Given the description of an element on the screen output the (x, y) to click on. 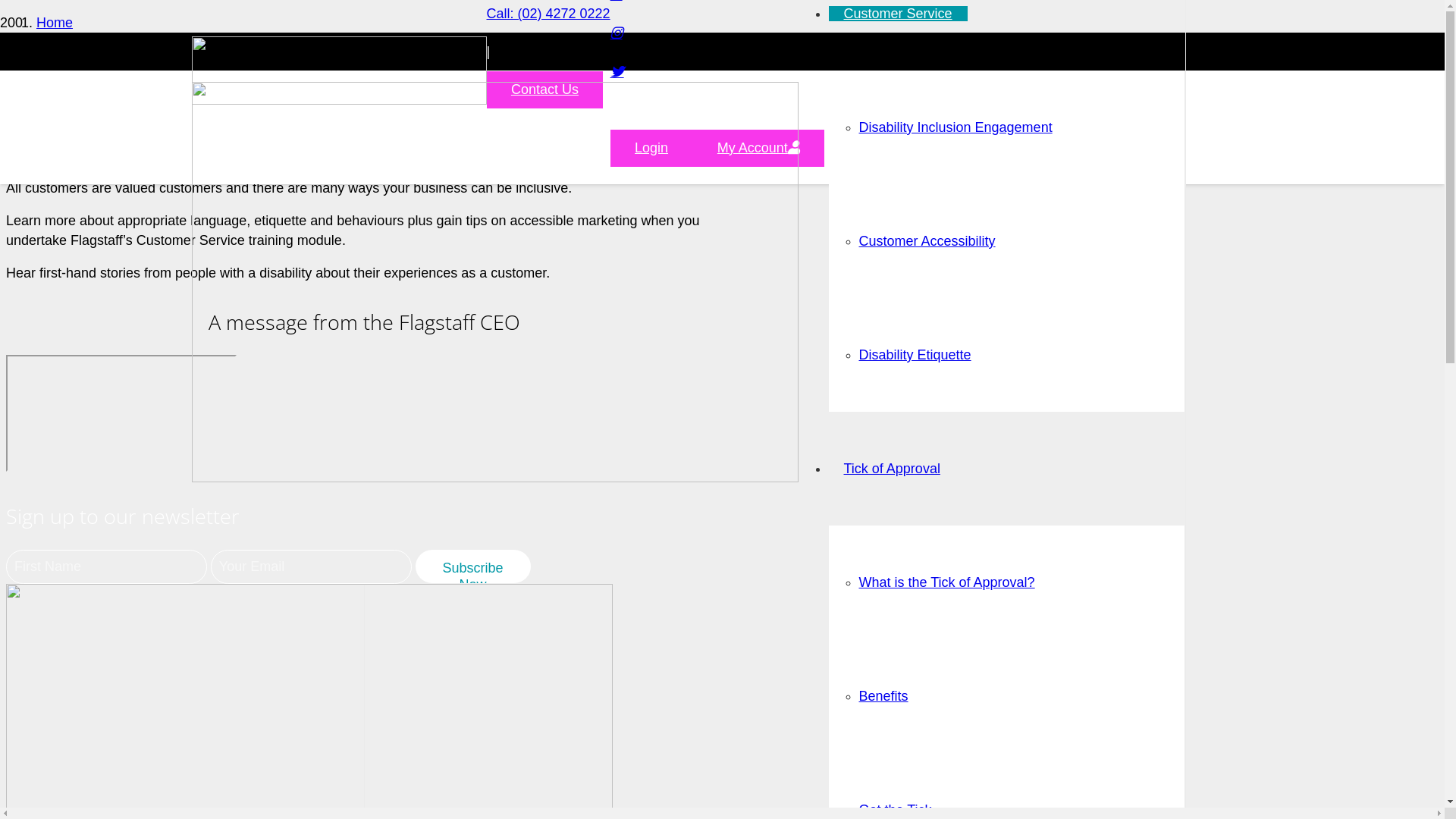
Benefits Element type: text (882, 695)
Customer Accessibility Element type: text (926, 240)
Tick of Approval Element type: text (891, 468)
Instagram Element type: hover (616, 32)
Call: (02) 4272 0222 Element type: text (548, 13)
Contact Us Element type: text (544, 89)
Disability Etiquette Element type: text (914, 354)
Subscribe Now Element type: text (472, 566)
Get the Tick Element type: text (894, 809)
Login Element type: text (651, 147)
My Account Element type: text (758, 147)
Disability Inclusion Engagement Element type: text (954, 126)
Customer Service Element type: text (90, 64)
Customer Service Element type: text (897, 13)
Twitter Element type: hover (617, 71)
Youtube video player Element type: hover (121, 412)
Home Element type: text (54, 22)
What is the Tick of Approval? Element type: text (946, 581)
